Given the description of an element on the screen output the (x, y) to click on. 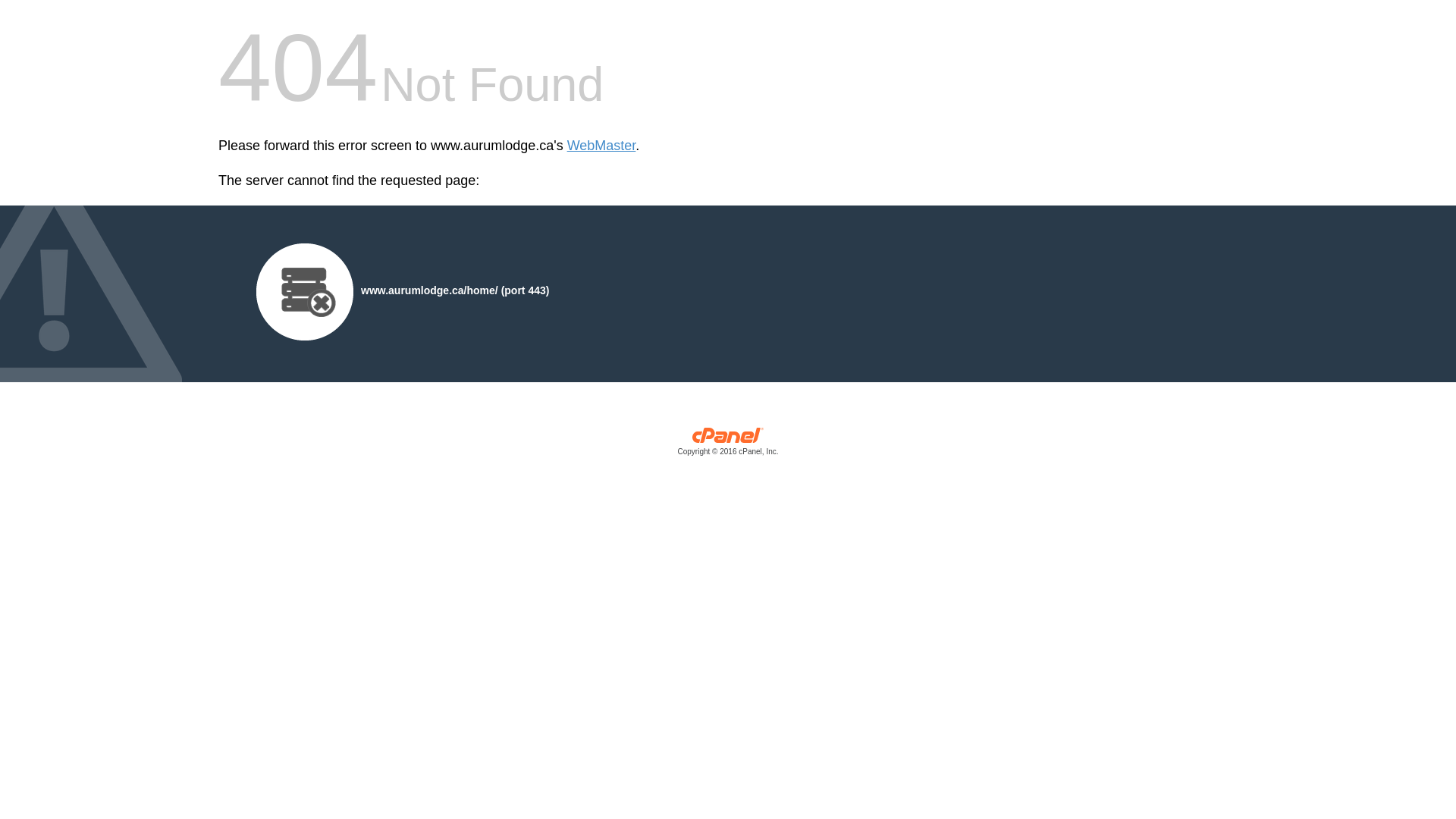
WebMaster Element type: text (601, 145)
